Given the description of an element on the screen output the (x, y) to click on. 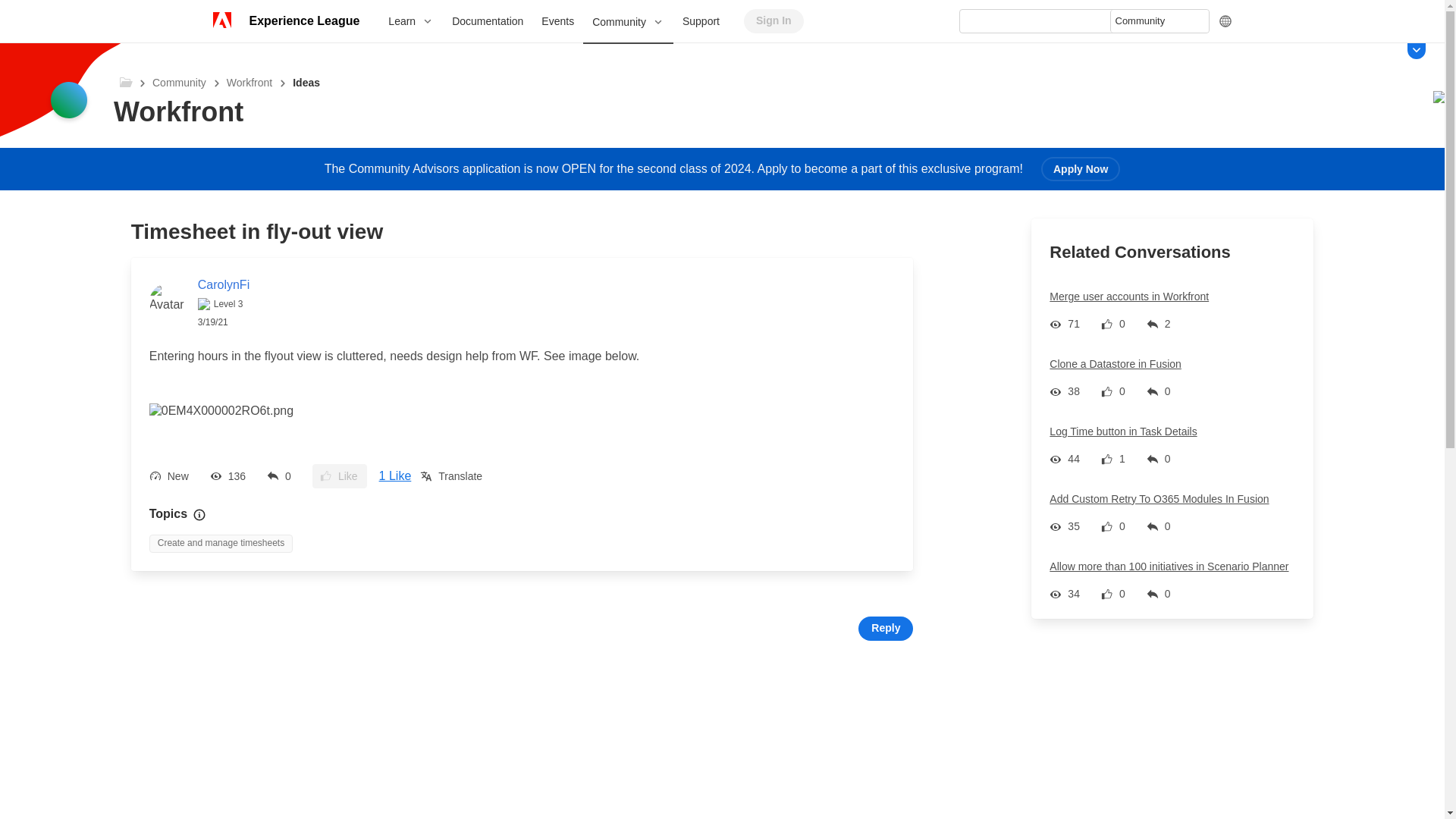
Learn (410, 21)
Community (627, 22)
Events (557, 21)
Experience League (304, 21)
Learn (410, 21)
Experience League (304, 21)
Documentation (487, 21)
